Given the description of an element on the screen output the (x, y) to click on. 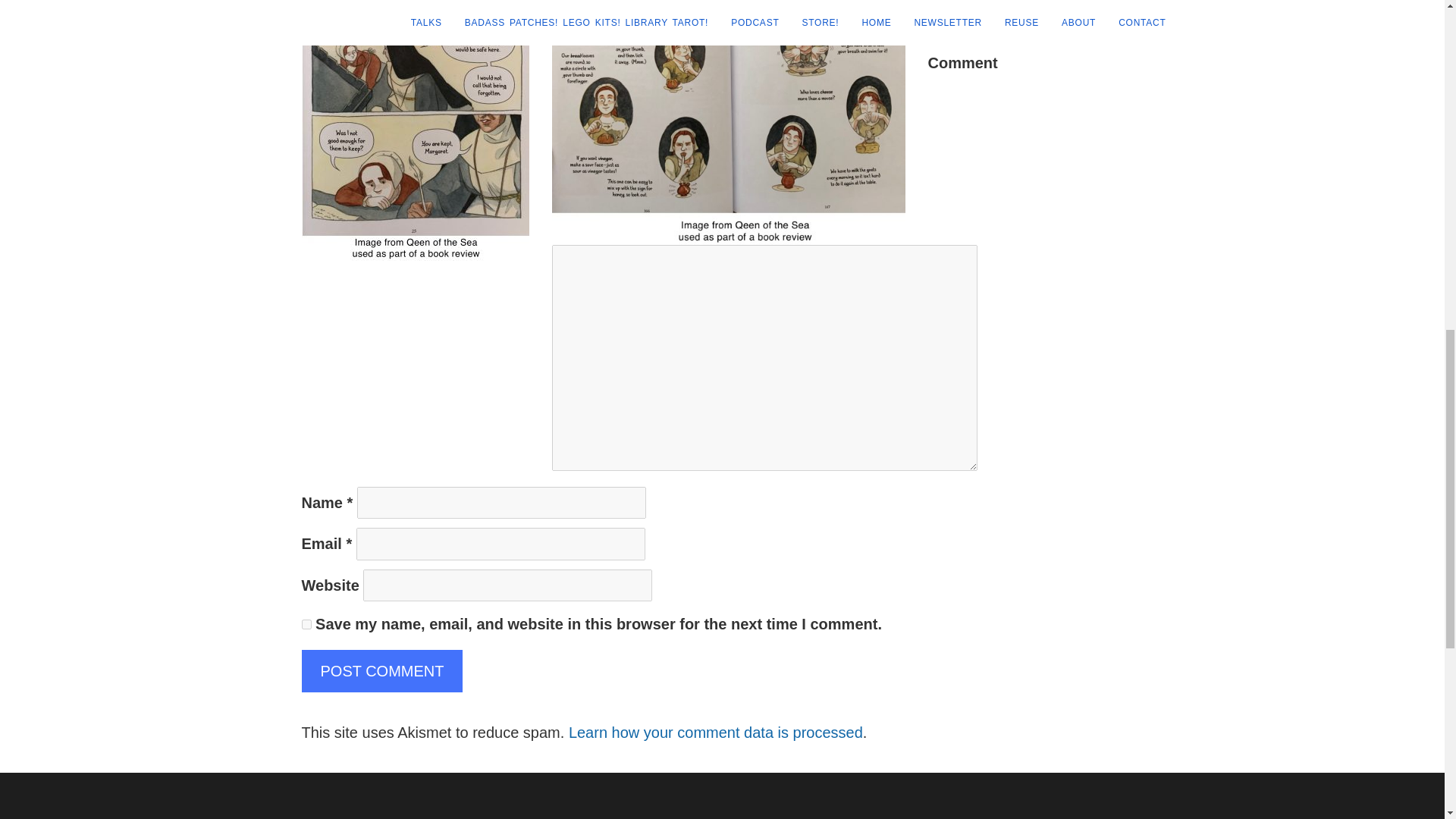
yes (306, 624)
Post Comment (382, 671)
Learn how your comment data is processed (716, 732)
Post Comment (382, 671)
